Given the description of an element on the screen output the (x, y) to click on. 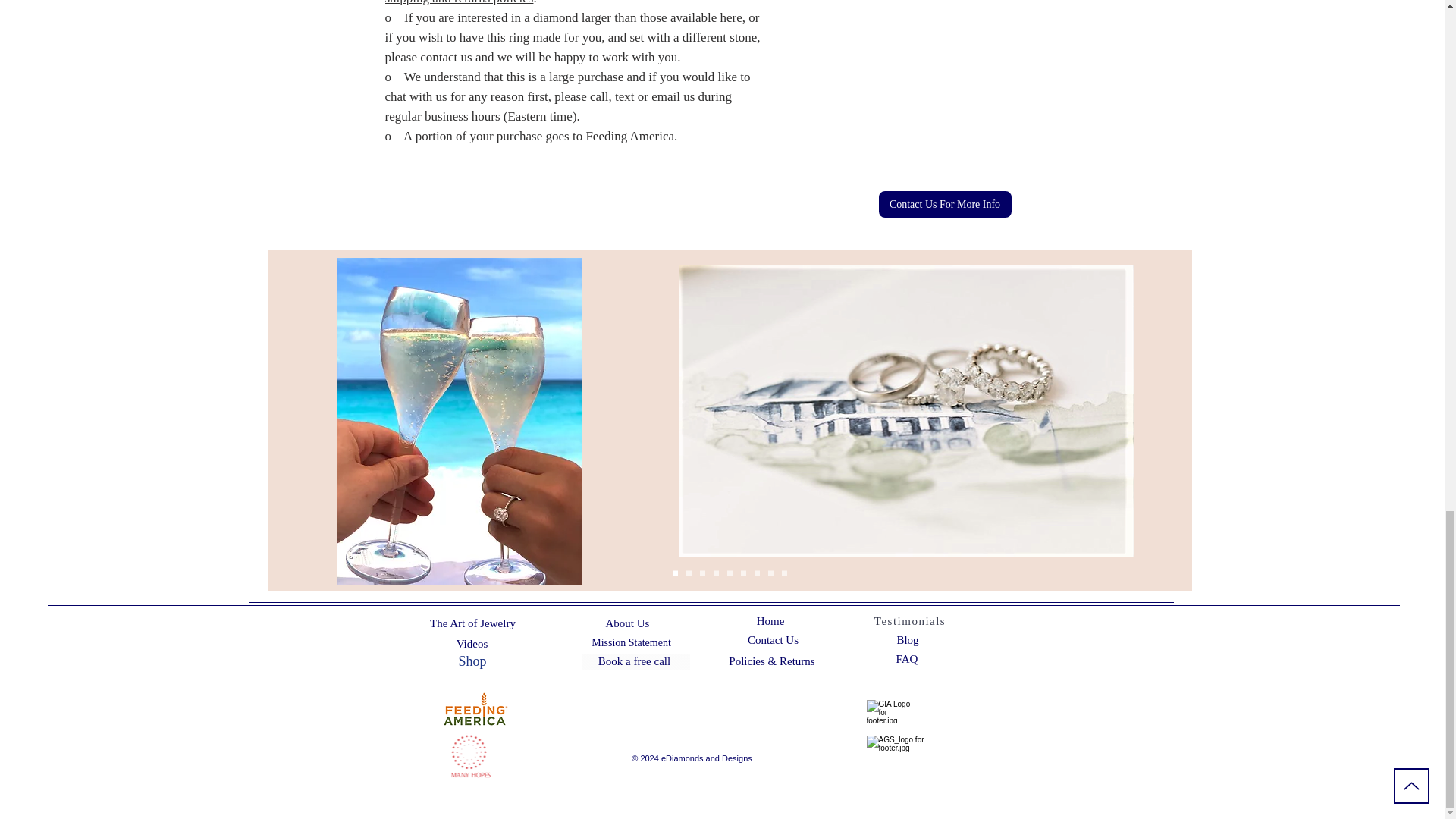
The Art of Jewelry (472, 623)
Home (769, 621)
Videos (471, 643)
Feeding America Logo.png (474, 710)
Contact Us (772, 640)
Shop (471, 661)
Contact Us For More Info (943, 203)
shipping and returns policies (459, 2)
About Us (626, 623)
Book a free call (636, 661)
2023-12-04 10.24.44.Many Hopes Logo.jpg (472, 758)
Mission Statement (631, 642)
